Given the description of an element on the screen output the (x, y) to click on. 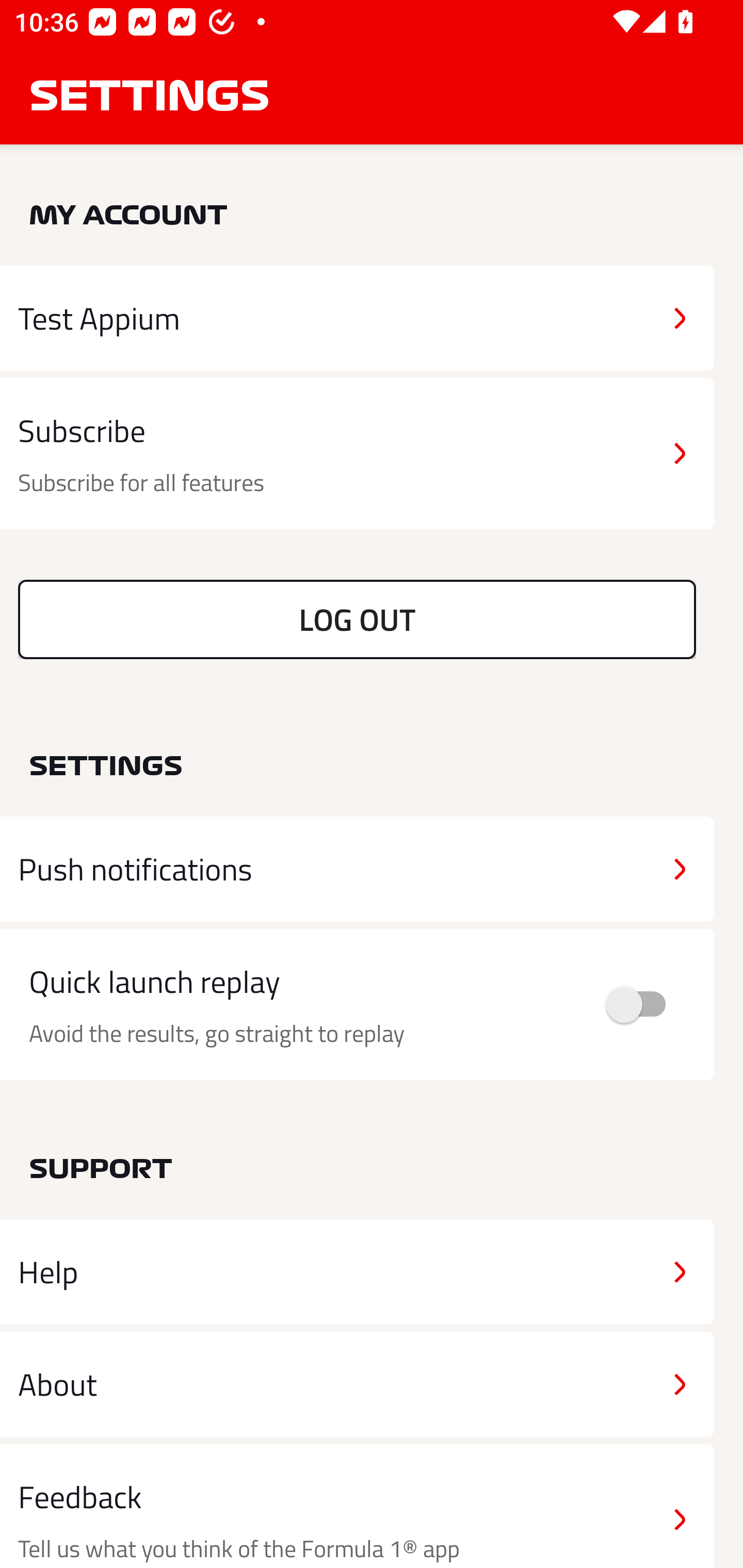
Test Appium (357, 317)
Subscribe Subscribe for all features (357, 453)
LOG OUT (356, 619)
Push notifications (357, 868)
Help (357, 1271)
About (357, 1383)
